Given the description of an element on the screen output the (x, y) to click on. 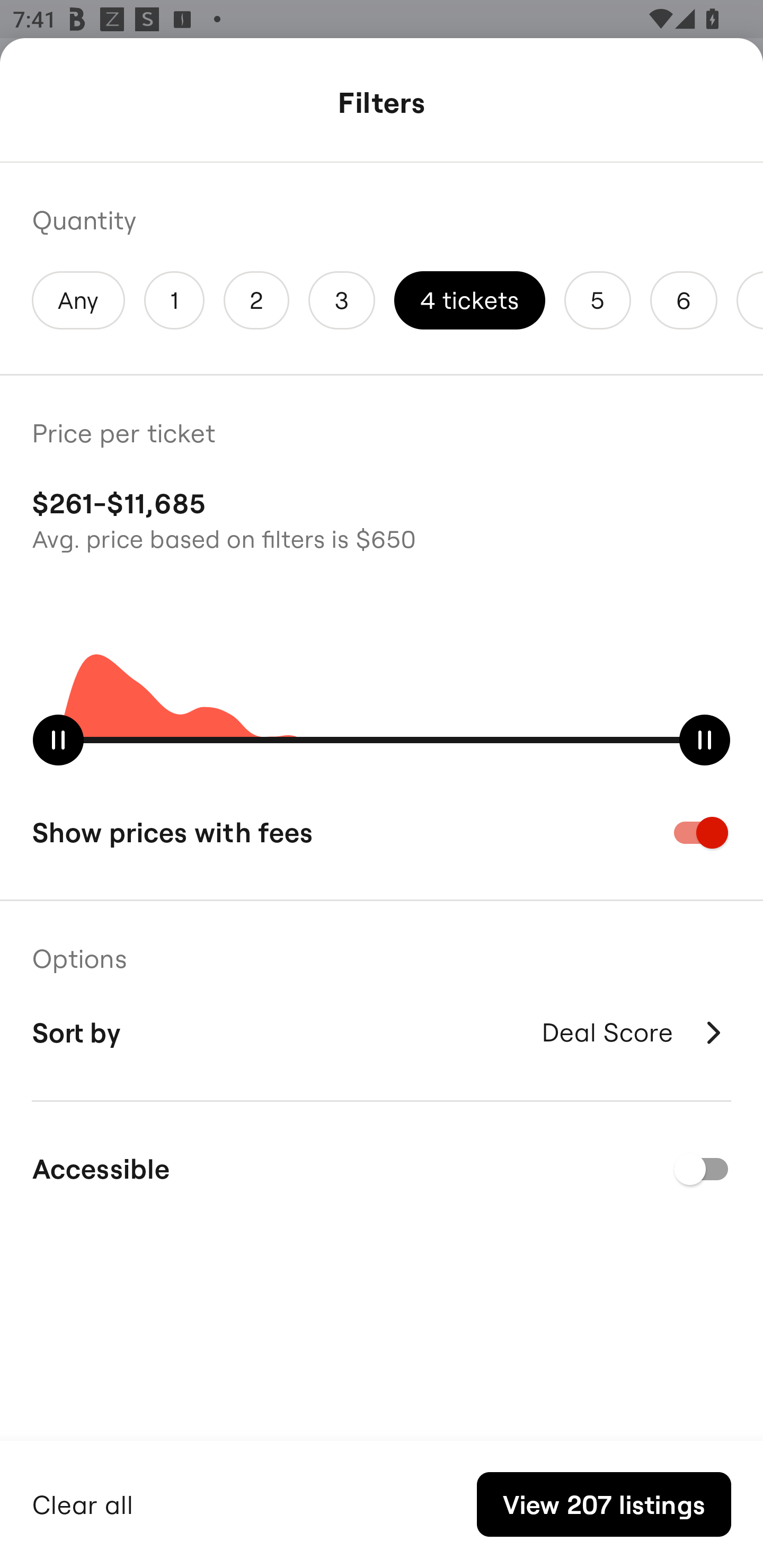
Any (78, 300)
1 (173, 300)
2 (256, 300)
3 (341, 300)
4 tickets (469, 300)
5 (597, 300)
6 (684, 300)
$261-$11,685 Avg. price based on filters is $650 (381, 518)
Show prices with fees (381, 832)
Sort by Deal Score (381, 1032)
Accessible (381, 1168)
Clear all (83, 1502)
View 207 listings (603, 1504)
